Given the description of an element on the screen output the (x, y) to click on. 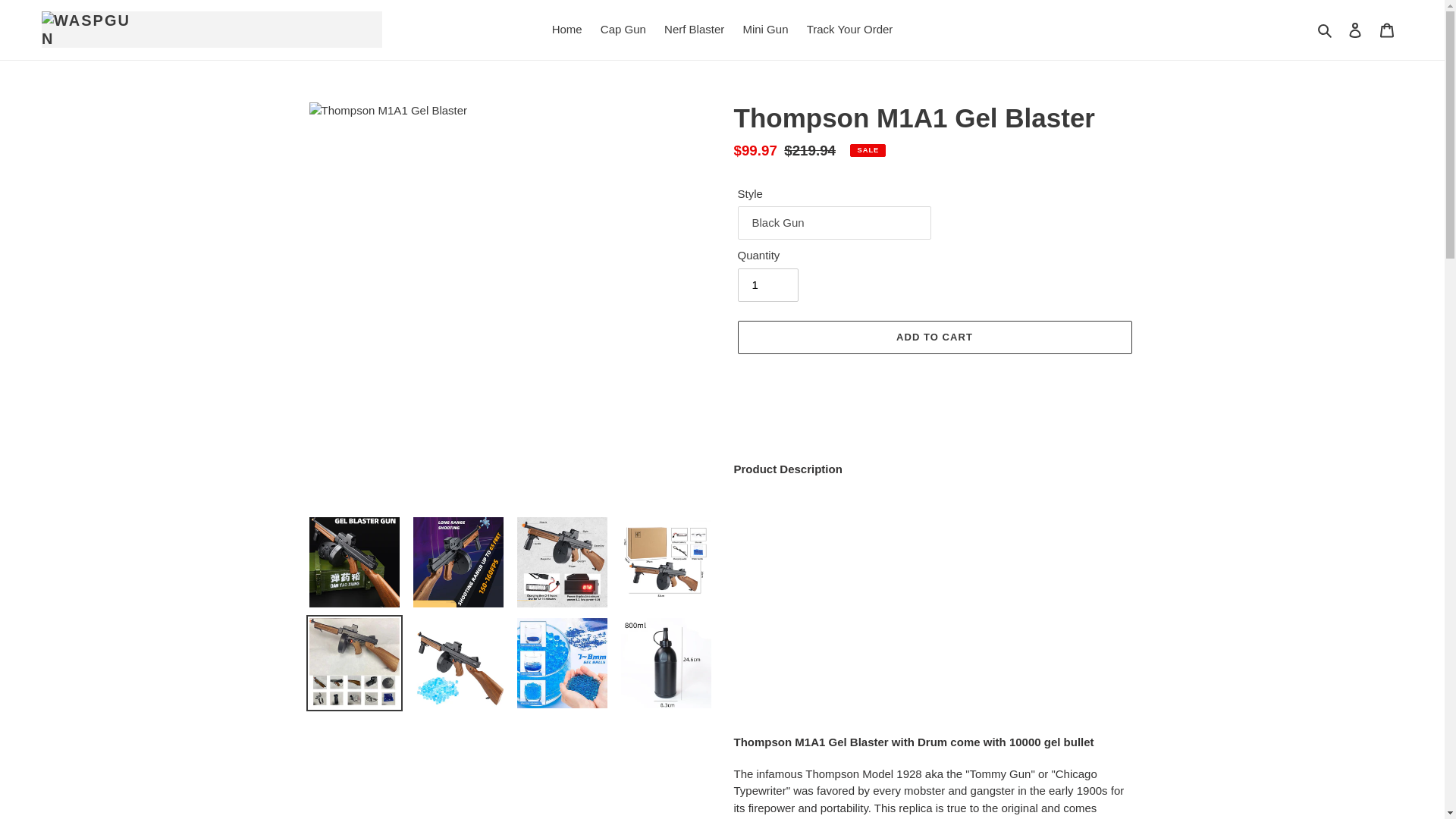
Home (566, 29)
ADD TO CART (933, 337)
Track Your Order (850, 29)
Cap Gun (622, 29)
Log in (1355, 29)
YouTube video player (934, 606)
Search (1326, 29)
Mini Gun (764, 29)
1 (766, 285)
Cart (1387, 29)
Nerf Blaster (694, 29)
